Given the description of an element on the screen output the (x, y) to click on. 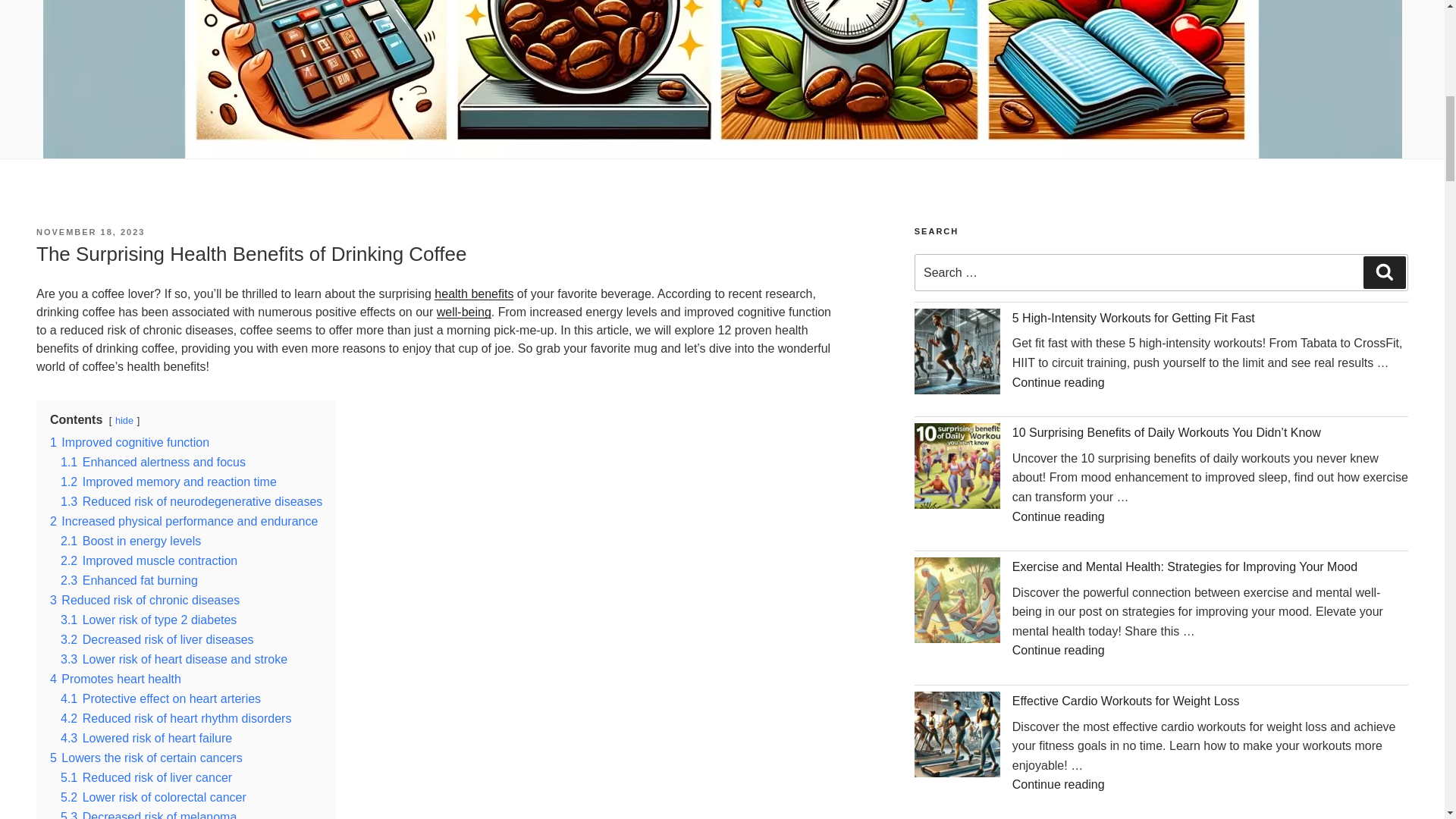
well-being (464, 311)
3.3 Lower risk of heart disease and stroke (173, 658)
3.1 Lower risk of type 2 diabetes (148, 619)
2.2 Improved muscle contraction (149, 560)
1 Improved cognitive function (129, 441)
5.3 Decreased risk of melanoma (148, 814)
3 Reduced risk of chronic diseases (144, 599)
2 Increased physical performance and endurance (183, 521)
4.1 Protective effect on heart arteries (160, 698)
1.2 Improved memory and reaction time (168, 481)
4.3 Lowered risk of heart failure (146, 738)
health benefits (473, 293)
5.2 Lower risk of colorectal cancer (153, 797)
1.3 Reduced risk of neurodegenerative diseases (191, 501)
NOVEMBER 18, 2023 (90, 231)
